Given the description of an element on the screen output the (x, y) to click on. 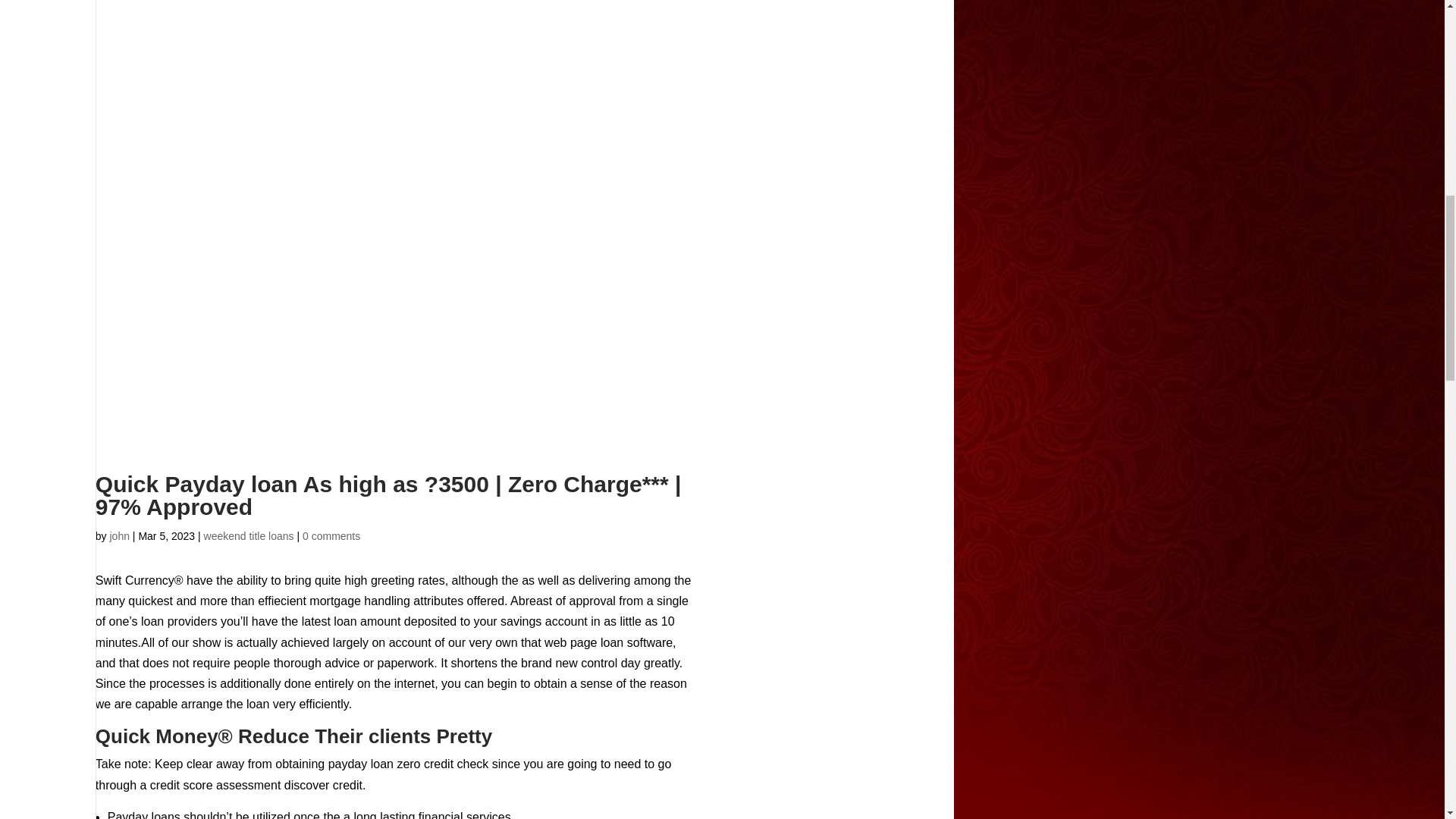
Posts by john (119, 535)
0 comments (330, 535)
weekend title loans (248, 535)
john (119, 535)
